Given the description of an element on the screen output the (x, y) to click on. 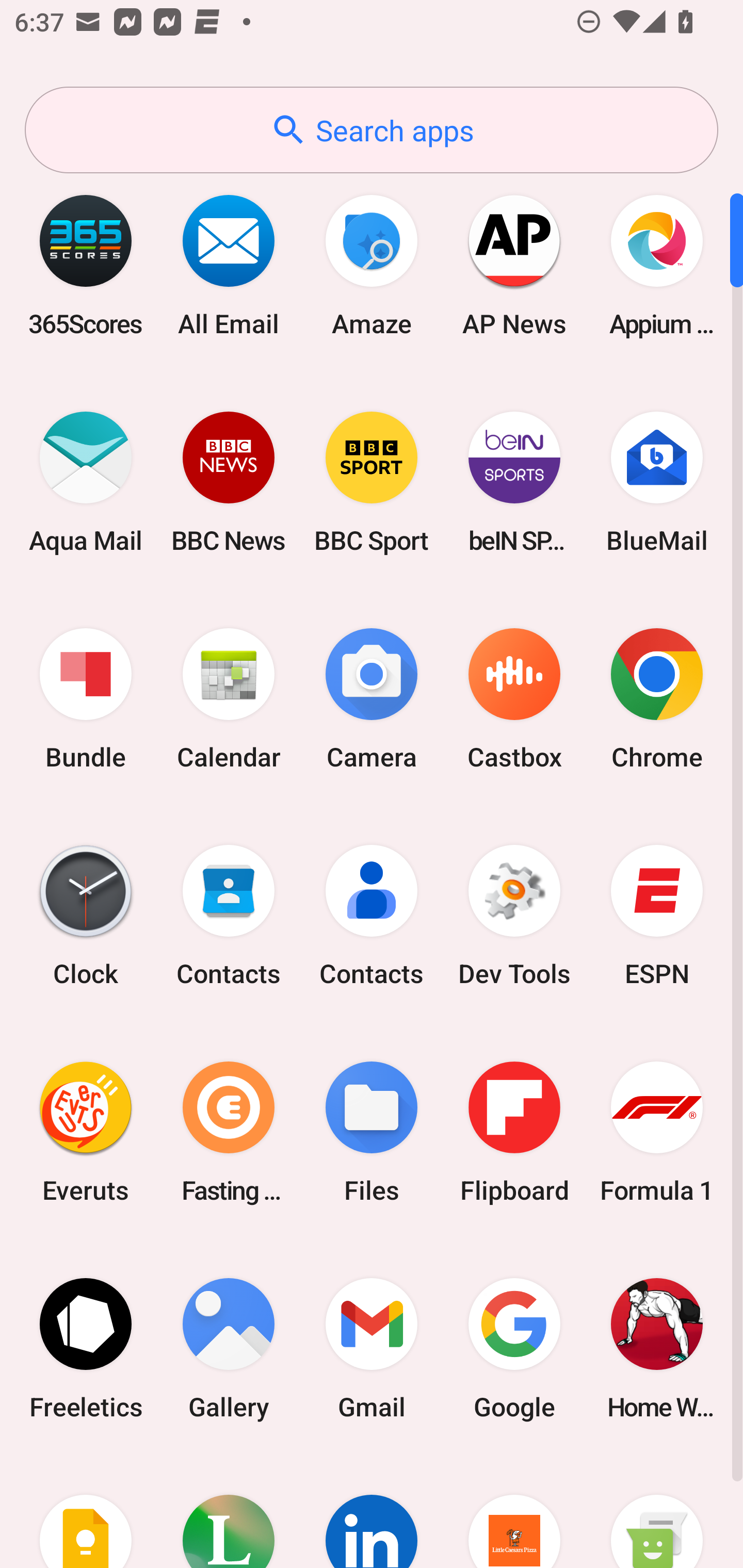
  Search apps (371, 130)
365Scores (85, 264)
All Email (228, 264)
Amaze (371, 264)
AP News (514, 264)
Appium Settings (656, 264)
Aqua Mail (85, 482)
BBC News (228, 482)
BBC Sport (371, 482)
beIN SPORTS (514, 482)
BlueMail (656, 482)
Bundle (85, 699)
Calendar (228, 699)
Camera (371, 699)
Castbox (514, 699)
Chrome (656, 699)
Clock (85, 915)
Contacts (228, 915)
Contacts (371, 915)
Dev Tools (514, 915)
ESPN (656, 915)
Everuts (85, 1131)
Fasting Coach (228, 1131)
Files (371, 1131)
Flipboard (514, 1131)
Formula 1 (656, 1131)
Freeletics (85, 1348)
Gallery (228, 1348)
Gmail (371, 1348)
Google (514, 1348)
Home Workout (656, 1348)
